Given the description of an element on the screen output the (x, y) to click on. 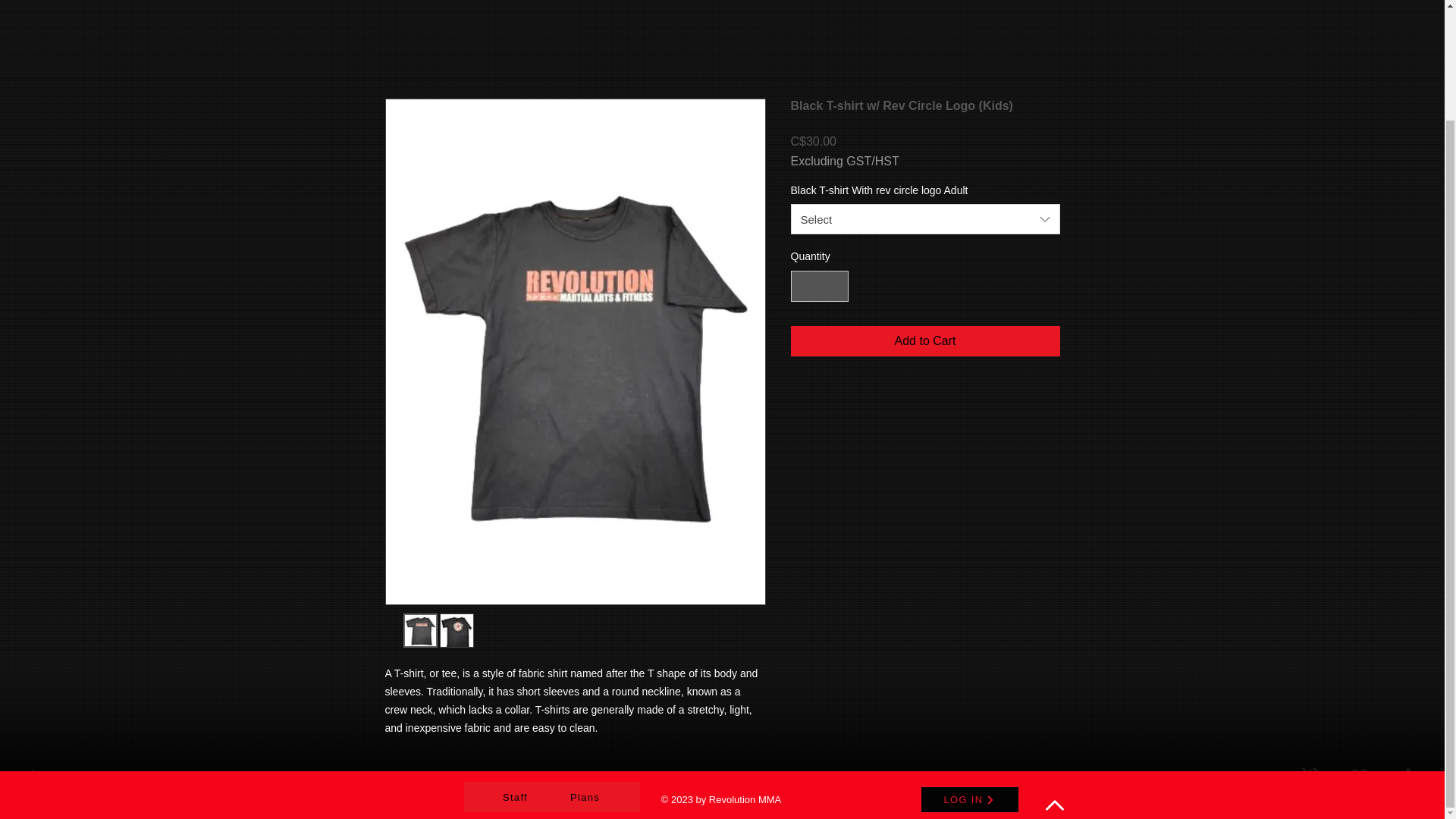
LOG IN (969, 799)
Plans (587, 797)
Add to Cart (924, 340)
Select (924, 218)
Staff (517, 797)
1 (818, 286)
